Given the description of an element on the screen output the (x, y) to click on. 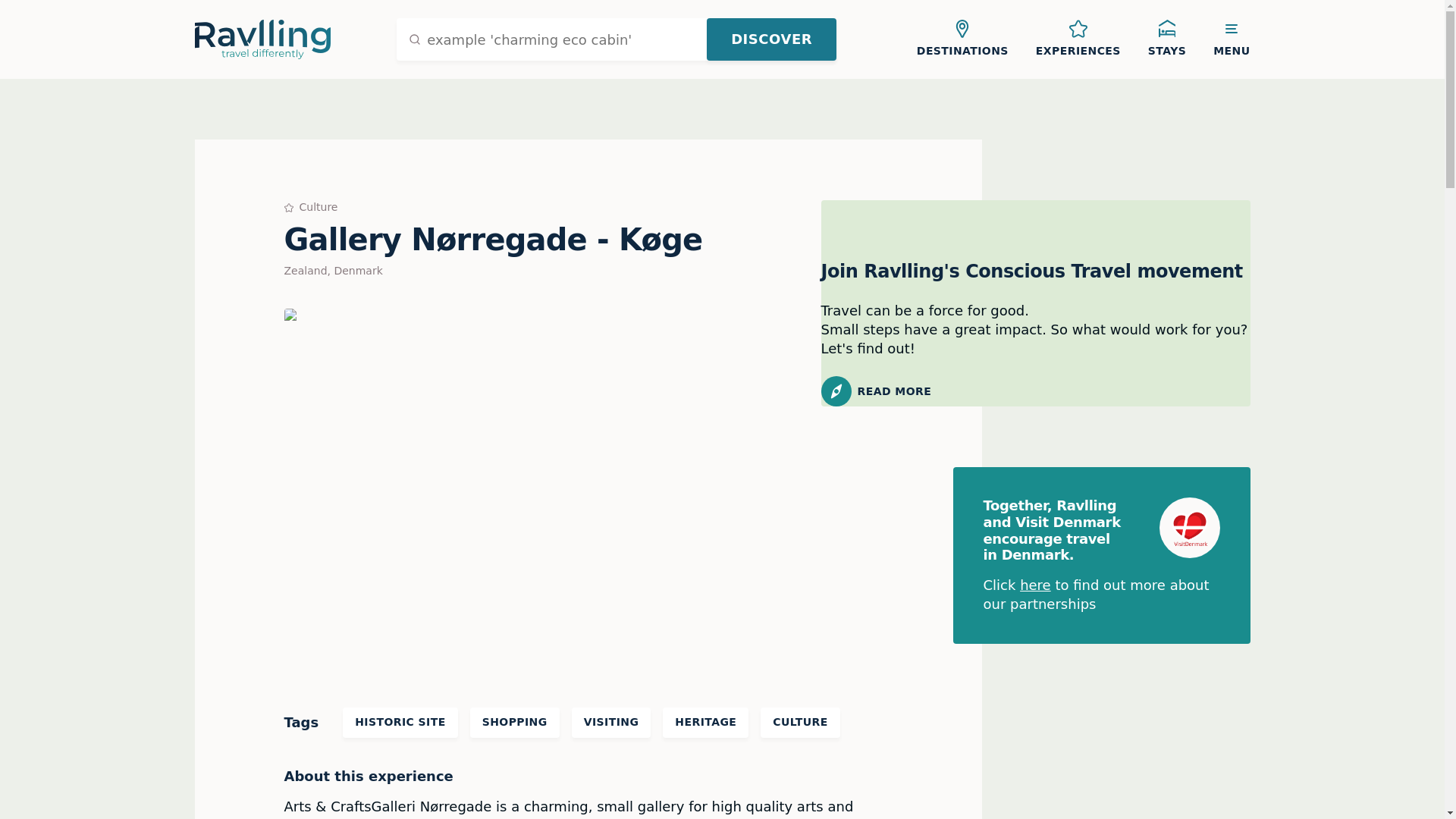
DISCOVER (770, 39)
MENU (1231, 38)
READ MORE (1035, 390)
SHOPPING (514, 722)
CULTURE (800, 722)
HISTORIC SITE (399, 722)
here (1035, 584)
DESTINATIONS (962, 38)
HERITAGE (705, 722)
EXPERIENCES (1078, 38)
